Given the description of an element on the screen output the (x, y) to click on. 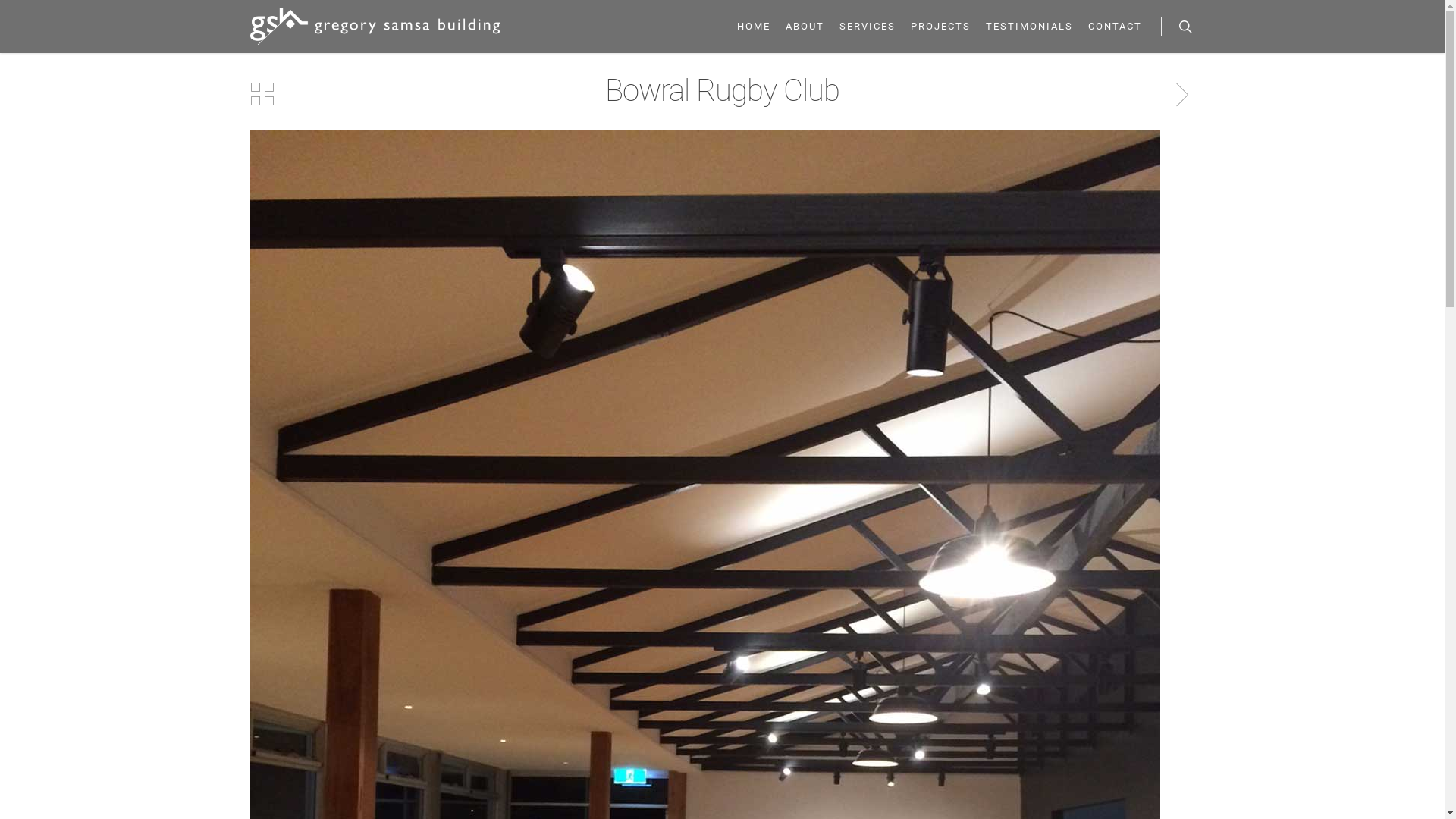
HOME Element type: text (753, 30)
Back to all projects Element type: hover (262, 93)
SERVICES Element type: text (867, 30)
TESTIMONIALS Element type: text (1029, 30)
ABOUT Element type: text (804, 30)
CONTACT Element type: text (1115, 30)
PROJECTS Element type: text (940, 30)
